Given the description of an element on the screen output the (x, y) to click on. 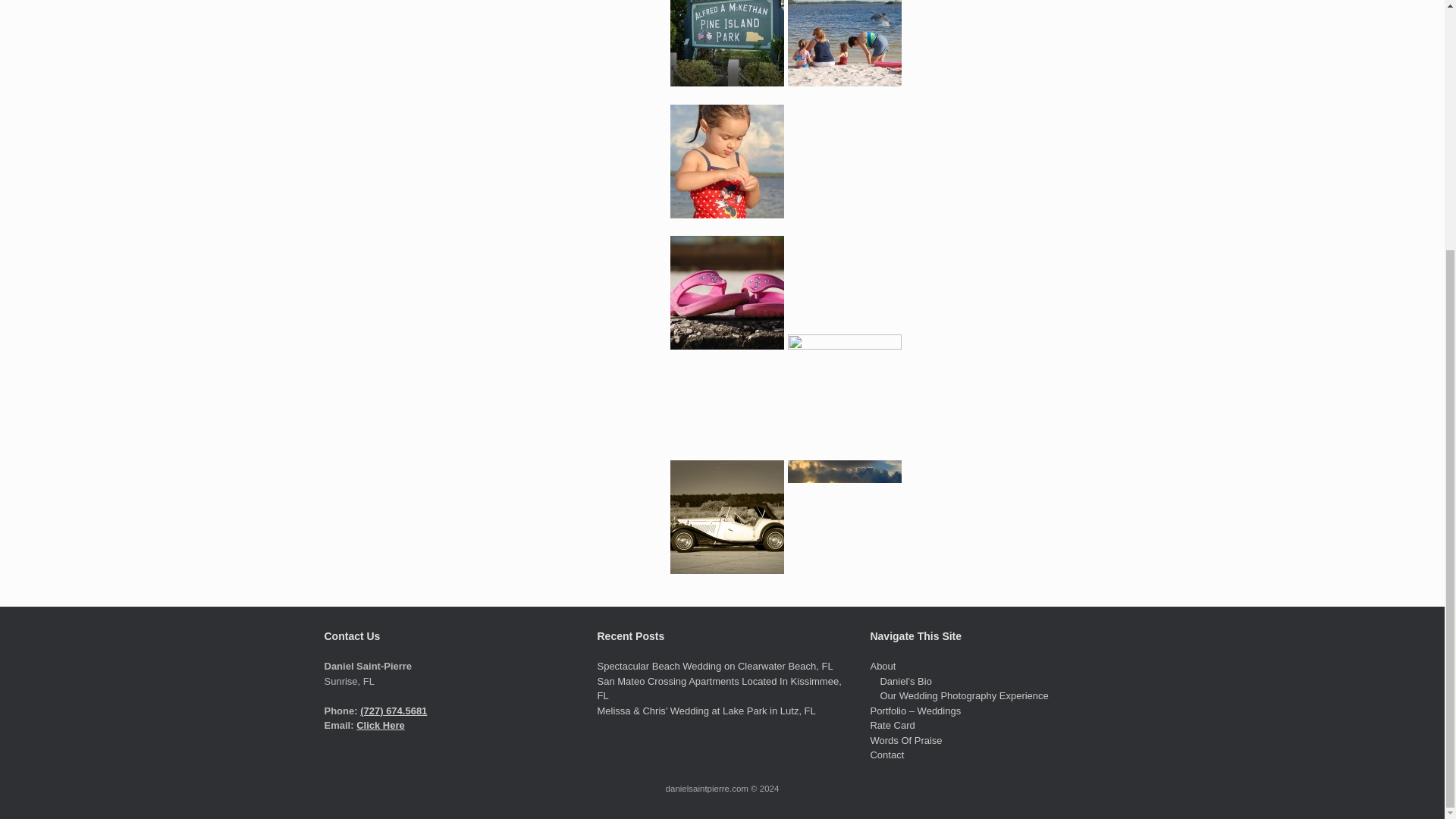
Rate Card (891, 725)
Words Of Praise (905, 740)
Pine Island Park Faith Picking Shells (726, 161)
Click Here (380, 725)
Pine Island Park Sunset (844, 517)
About (882, 665)
Pine Island Park Flip-Flops (726, 292)
Our Wedding Photography Experience (963, 695)
Spectacular Beach Wedding on Clearwater Beach, FL (714, 665)
Pine Island Park Trinity Jumping (844, 161)
